Given the description of an element on the screen output the (x, y) to click on. 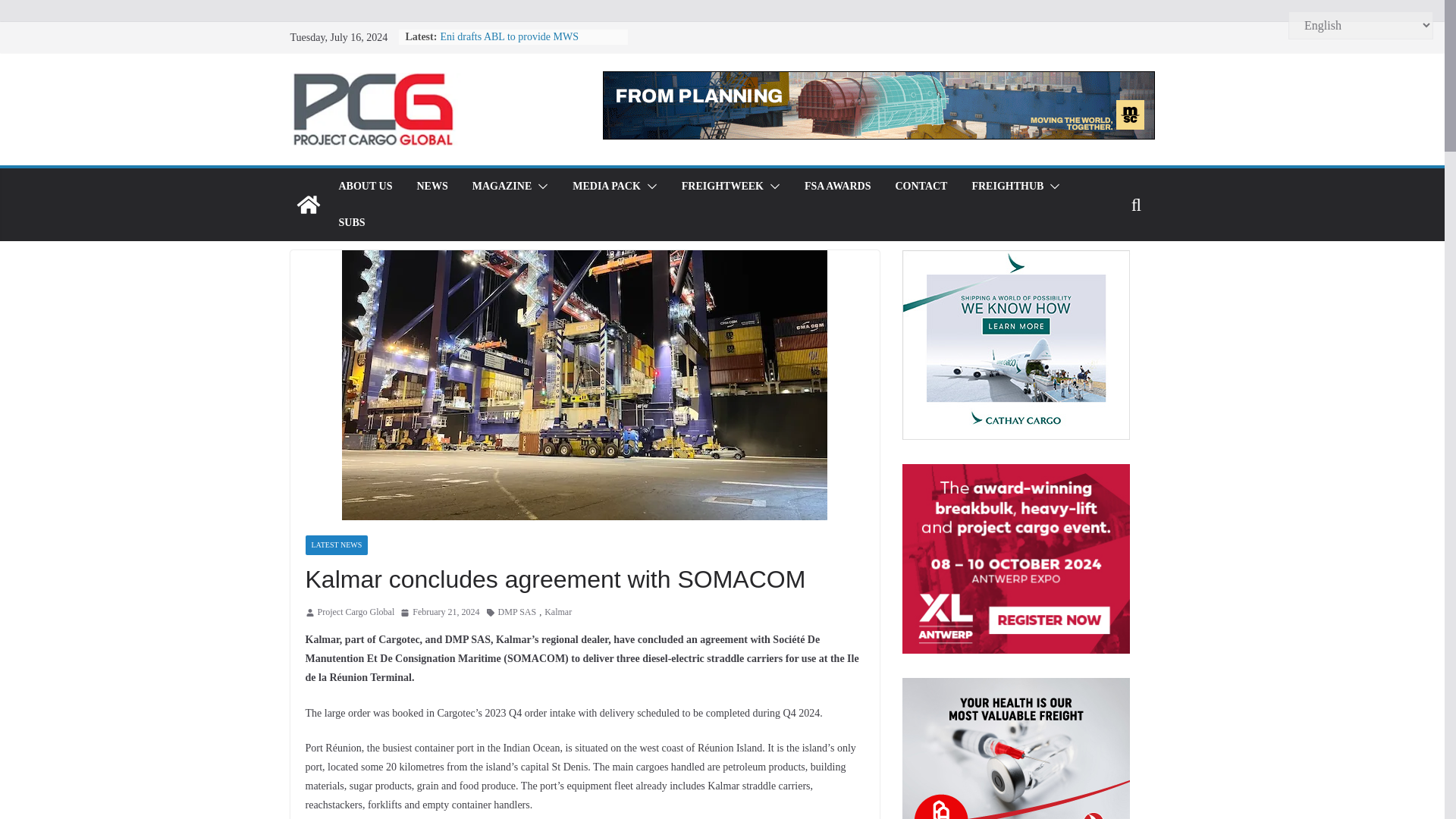
5:00 am (439, 612)
Kalmar (558, 612)
FREIGHTWEEK (721, 186)
FREIGHTHUB (1007, 186)
DMP SAS (517, 612)
Turkish Cargo (1015, 748)
Eni drafts ABL to provide MWS (508, 36)
FSA AWARDS (837, 186)
ABOUT US (364, 186)
Cathay Cargo (1015, 344)
CONTACT (921, 186)
AntwerpXL (1015, 558)
LATEST NEWS (336, 545)
MEDIA PACK (606, 186)
Project Cargo Global (355, 612)
